Given the description of an element on the screen output the (x, y) to click on. 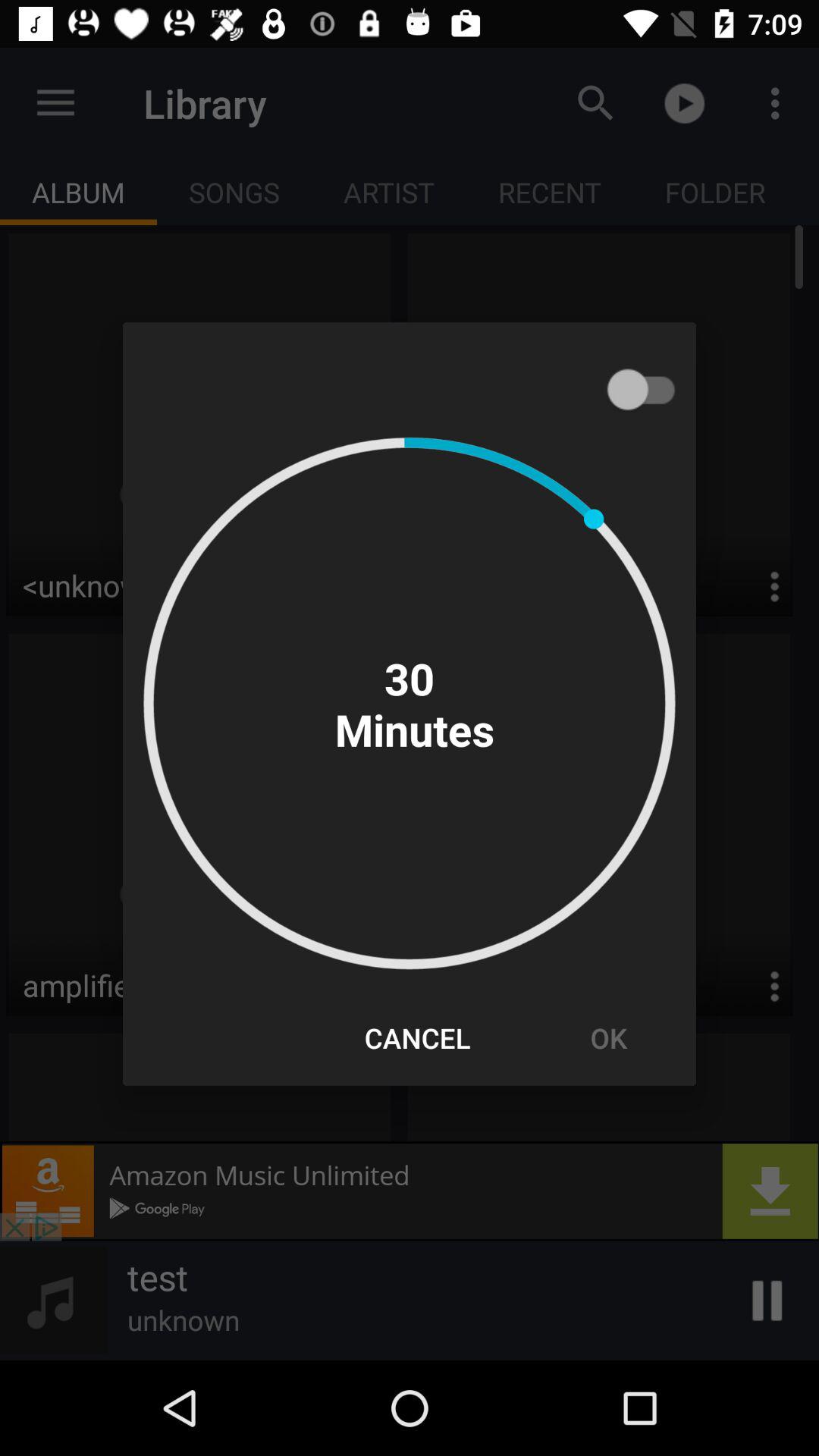
choose the icon next to ok icon (417, 1037)
